Given the description of an element on the screen output the (x, y) to click on. 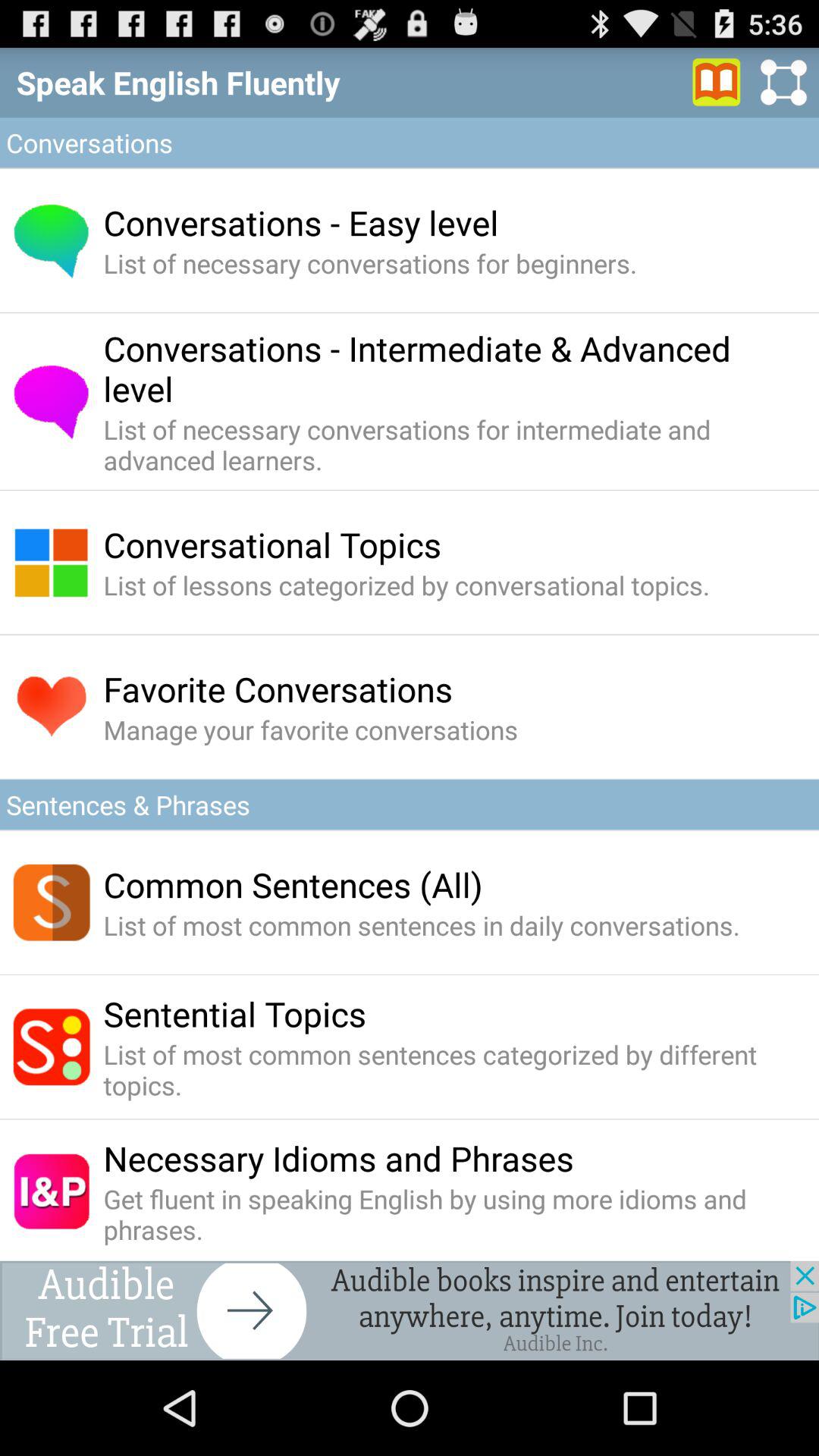
go to advertisements website (409, 1310)
